Given the description of an element on the screen output the (x, y) to click on. 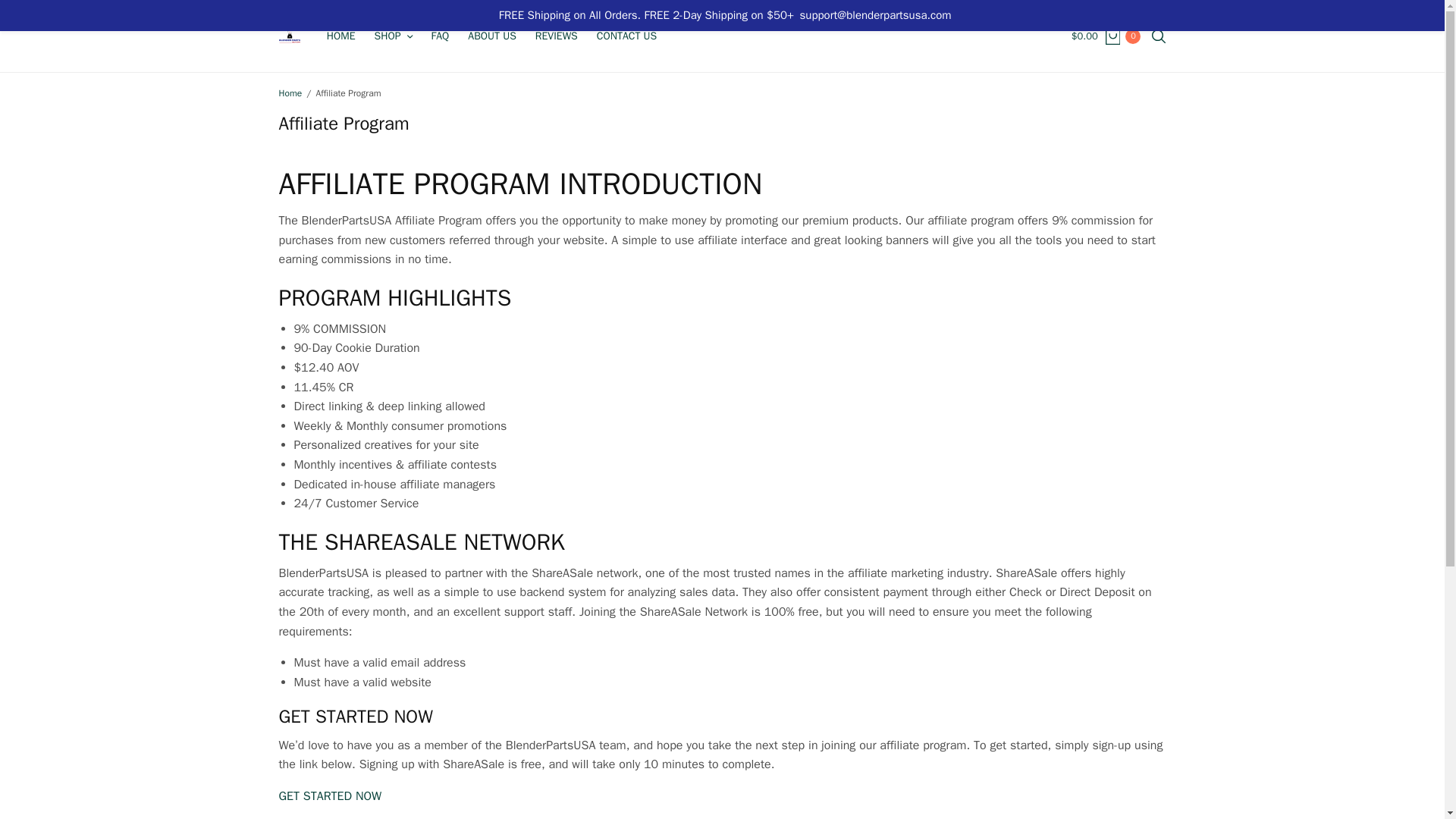
BlenderPartsUSA (289, 35)
GET STARTED NOW (330, 795)
SHOP (393, 35)
REVIEWS (556, 35)
Join BlenderPartsUSA Affiliate Program (330, 795)
Home (290, 93)
ABOUT US (491, 35)
CONTACT US (626, 35)
